Given the description of an element on the screen output the (x, y) to click on. 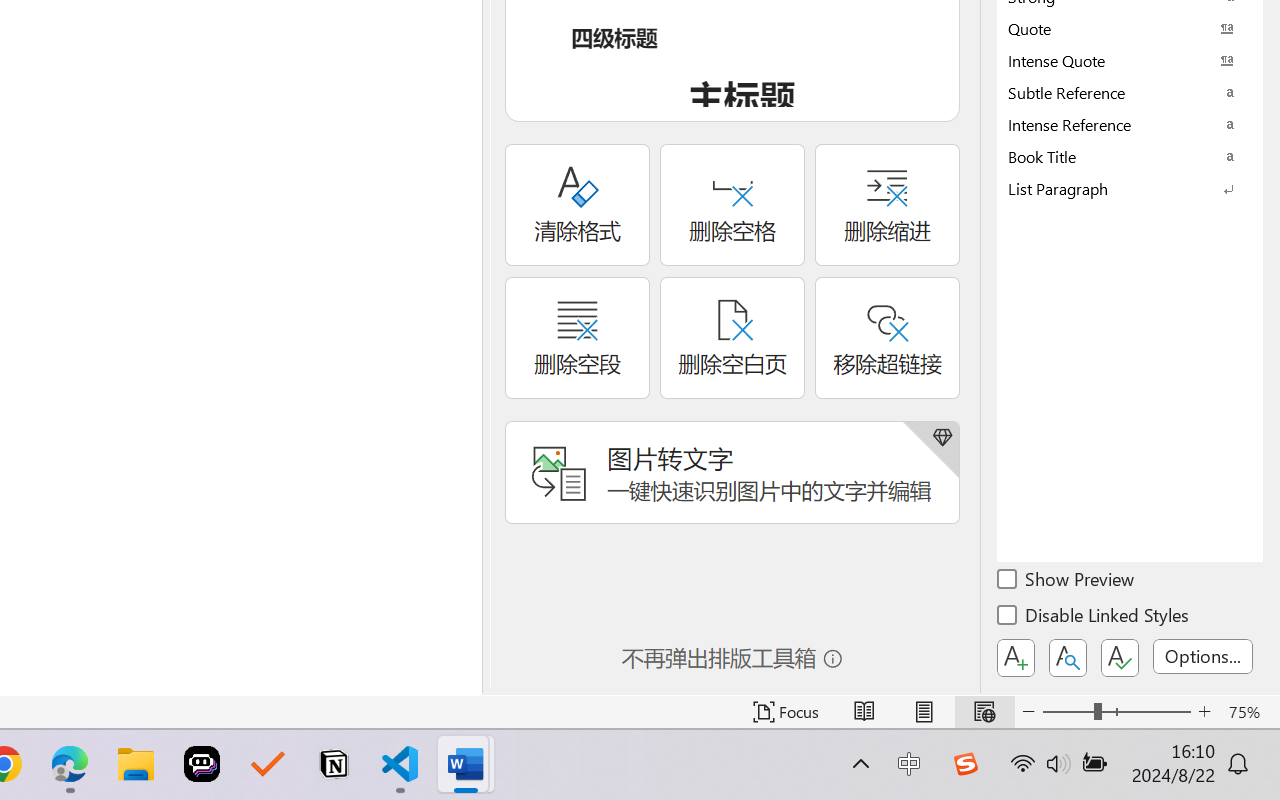
Class: NetUIImage (1116, 188)
Intense Reference (1130, 124)
Web Layout (984, 712)
Quote (1130, 28)
